Given the description of an element on the screen output the (x, y) to click on. 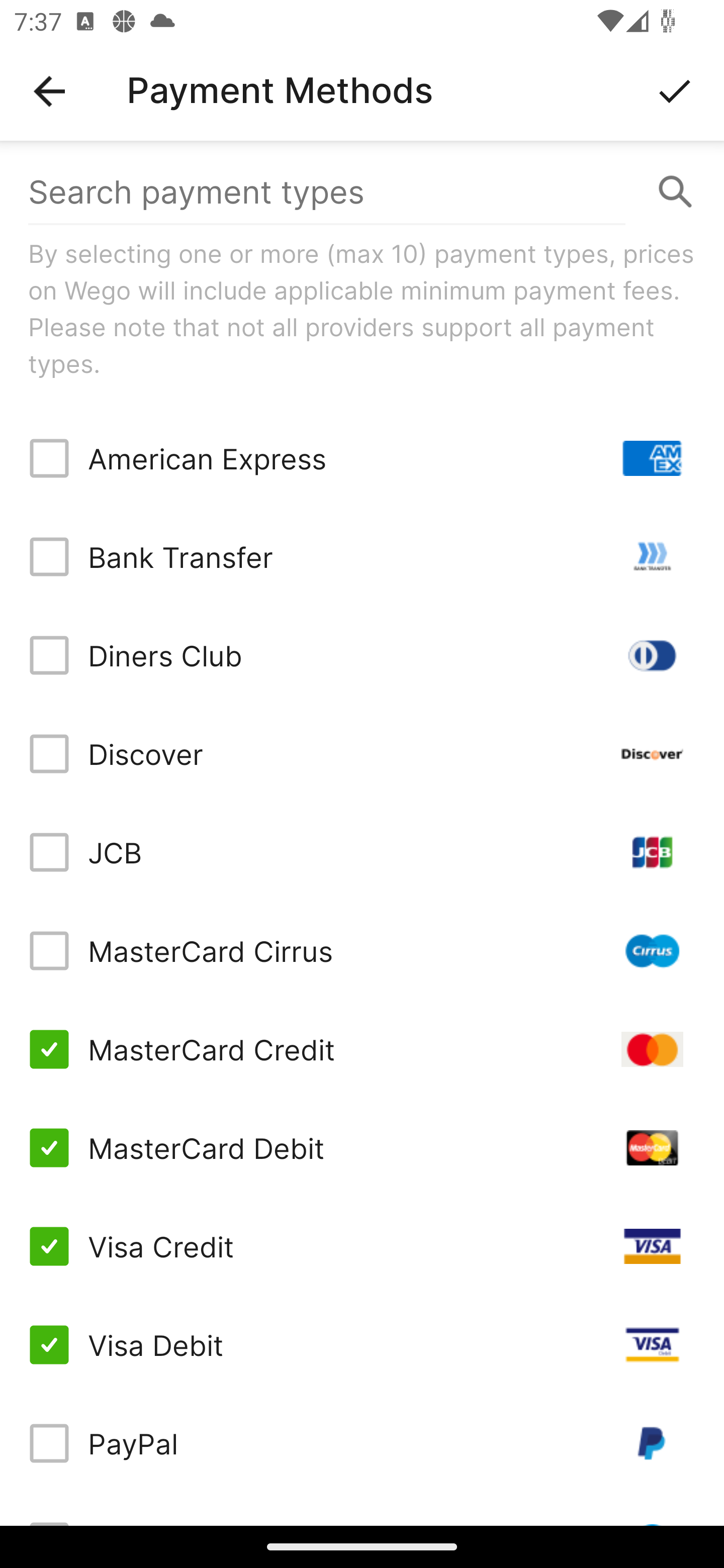
Search payment types  (361, 191)
American Express (362, 458)
Bank Transfer (362, 557)
Diners Club (362, 655)
Discover (362, 753)
JCB (362, 851)
MasterCard Cirrus (362, 950)
MasterCard Credit (362, 1049)
MasterCard Debit (362, 1147)
Visa Credit (362, 1245)
Visa Debit (362, 1344)
PayPal (362, 1442)
